Given the description of an element on the screen output the (x, y) to click on. 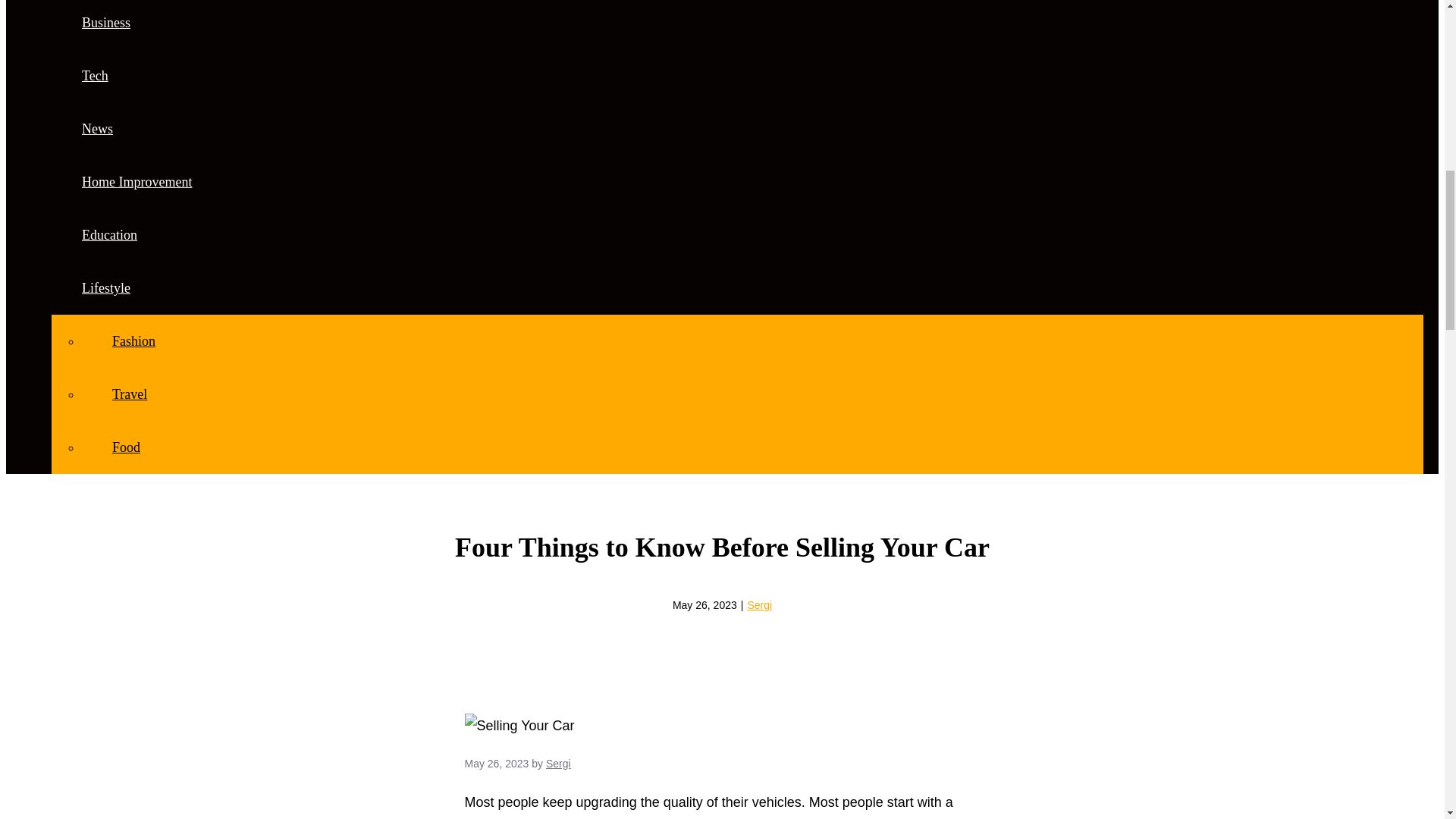
Sergi (758, 604)
Business (105, 22)
Tech (94, 75)
Fashion (133, 340)
Education (108, 234)
News (96, 128)
Food (125, 447)
Travel (129, 393)
View all posts by Sergi (558, 763)
Scroll back to top (1406, 720)
